Given the description of an element on the screen output the (x, y) to click on. 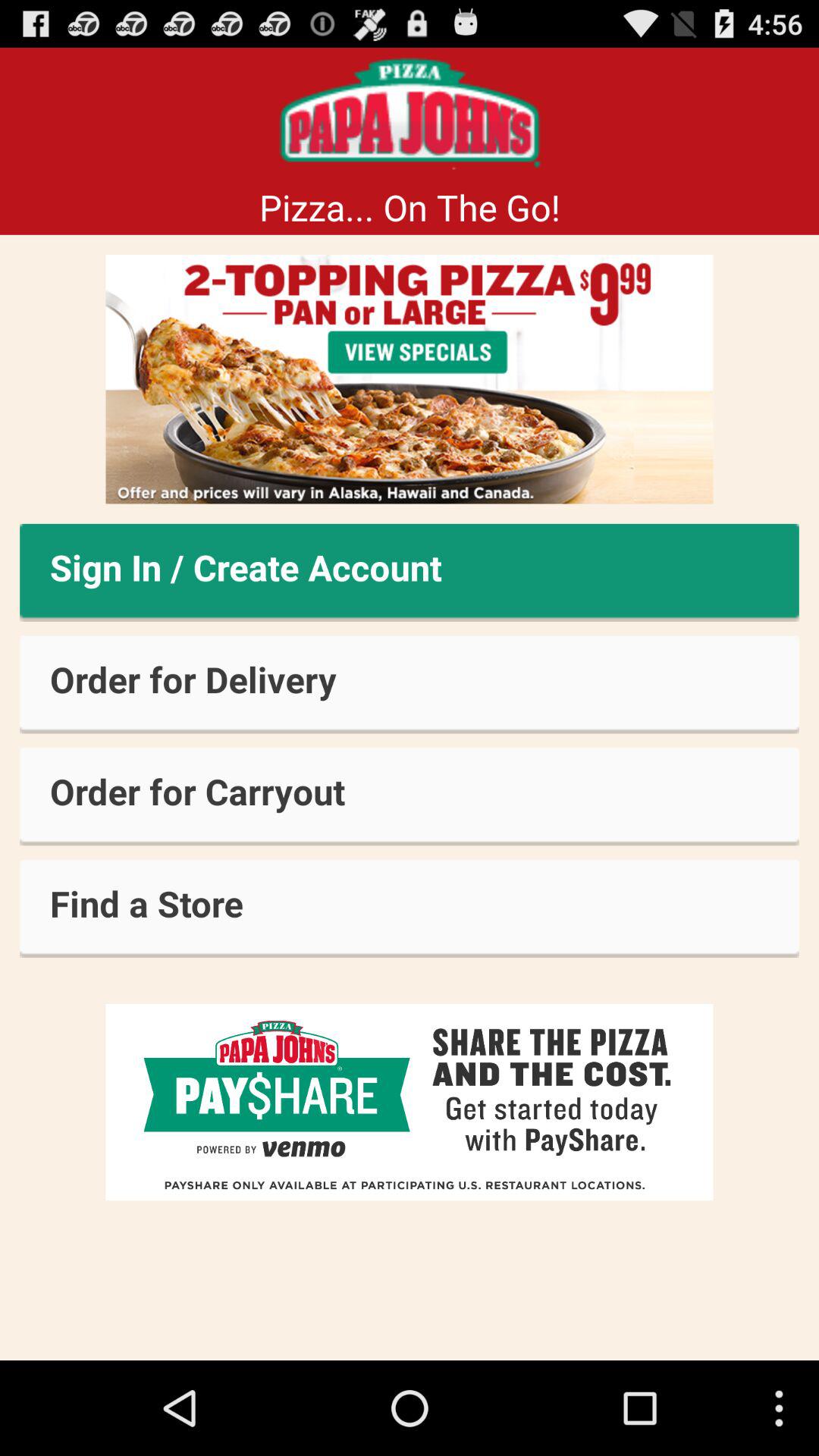
tap button above sign in create (409, 378)
